Given the description of an element on the screen output the (x, y) to click on. 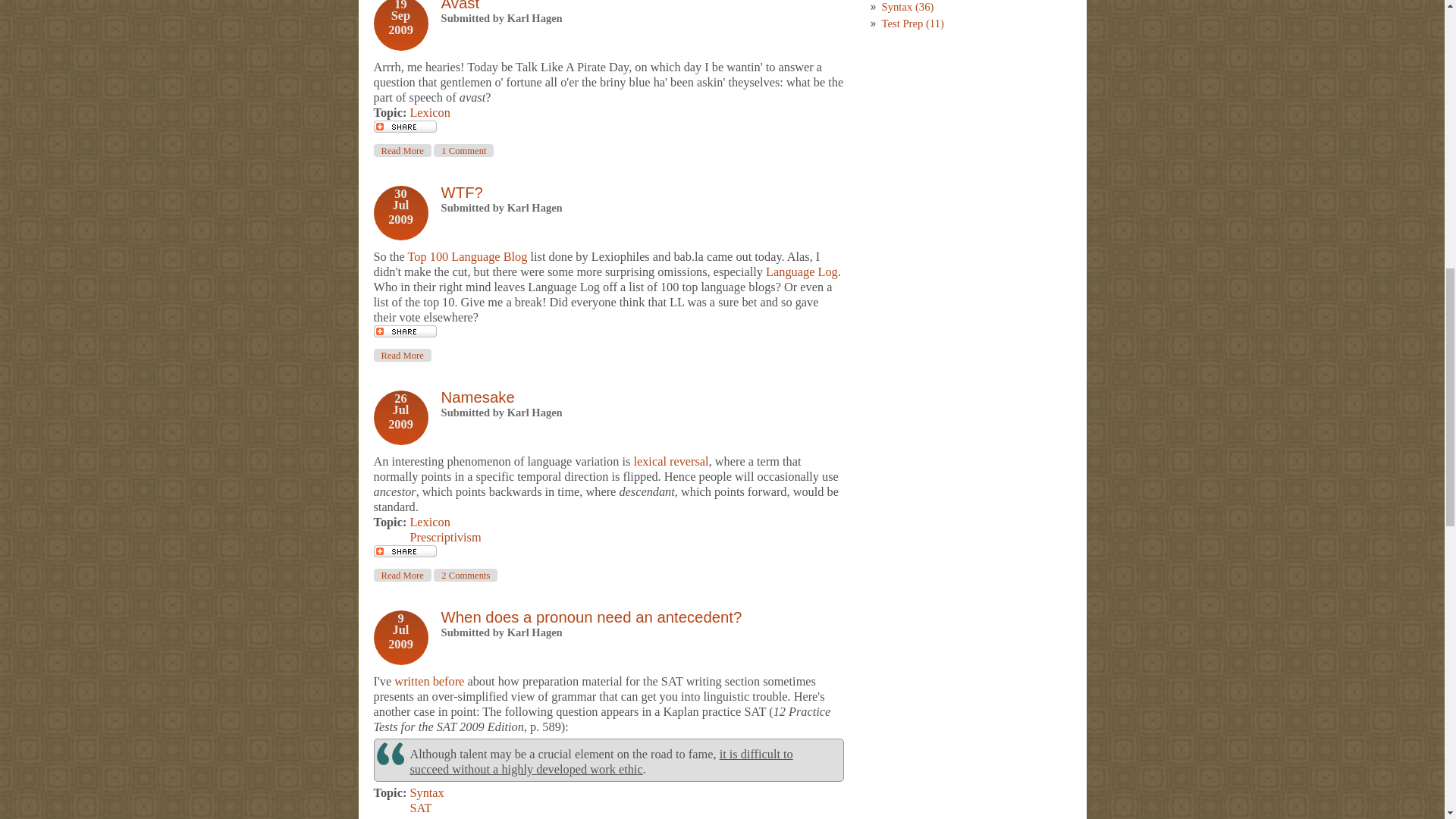
Avast (460, 5)
Namesake (401, 574)
lexical reversal (670, 461)
Top 100 Language Blog (467, 256)
Lexicon (429, 522)
WTF? (462, 192)
Avast (401, 150)
Jump to the first comment of this posting. (463, 150)
Namesake (478, 397)
1 Comment (463, 150)
Namesake (401, 354)
Lexicon (478, 397)
Language Log (401, 150)
